Given the description of an element on the screen output the (x, y) to click on. 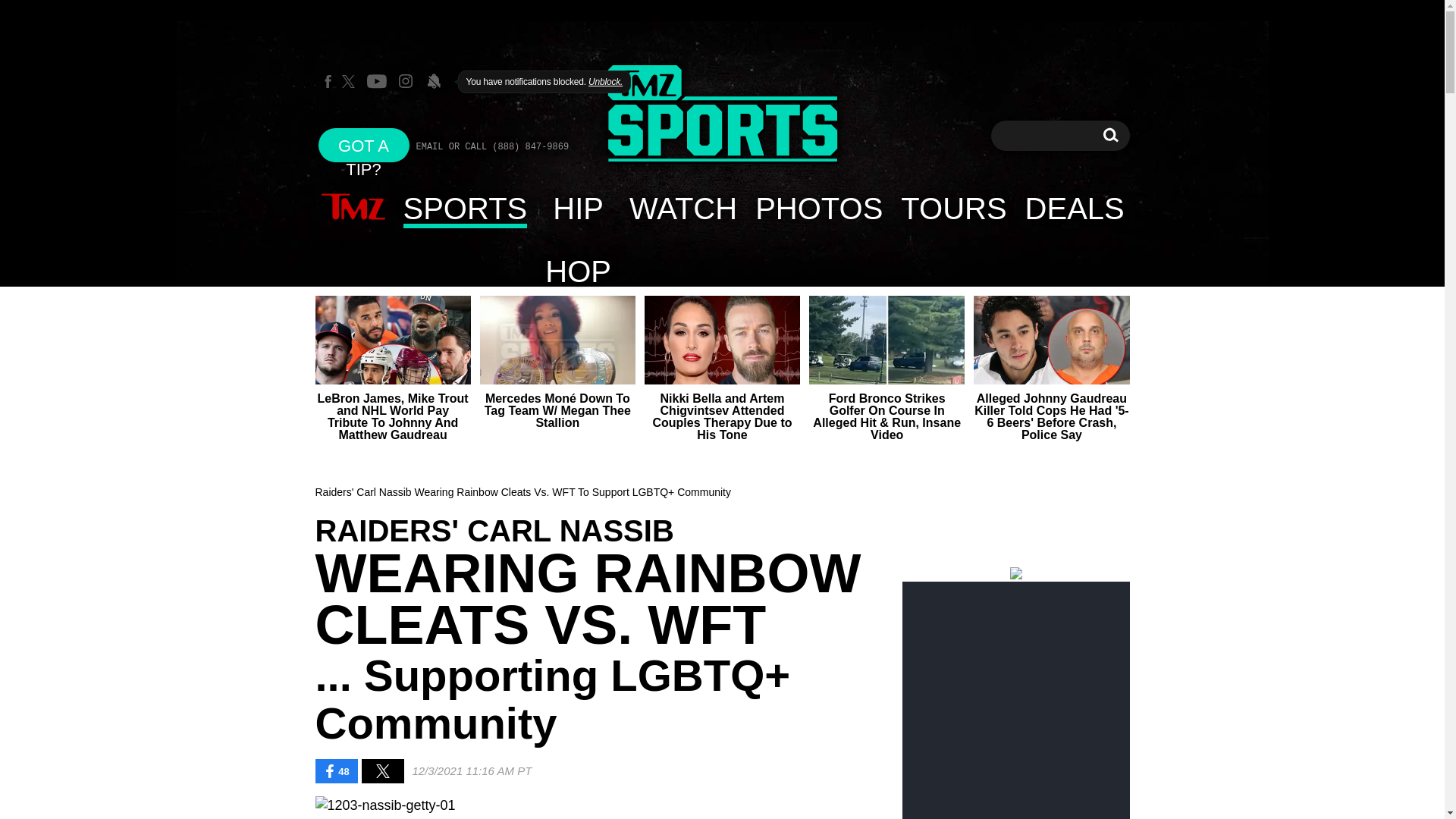
NEWS (353, 207)
Search (1110, 134)
PHOTOS (1110, 135)
GOT A TIP? (818, 207)
HIP HOP (363, 144)
DEALS (577, 207)
TMZ Sports (1075, 207)
TOURS (722, 115)
TMZ Sports (952, 207)
